Given the description of an element on the screen output the (x, y) to click on. 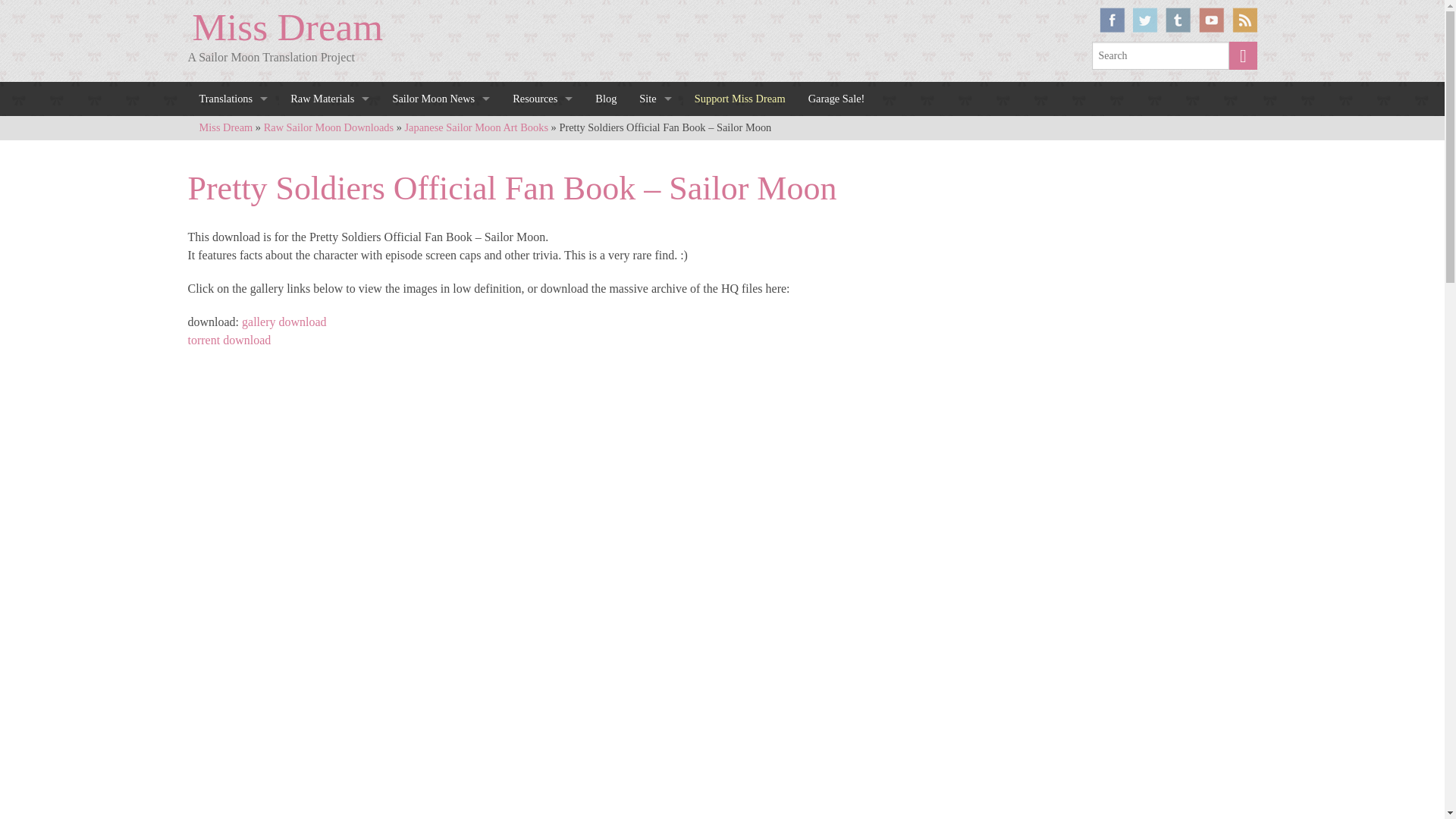
RSS (1243, 19)
Blog (605, 98)
Tumblr (1177, 19)
Sailor Moon Amour Eternal (440, 187)
YouTube (1211, 19)
Raw Materials (329, 98)
RSS (1243, 19)
Sailor Moon Un Nouveau Voyage (440, 216)
Raw Sailor Moon Videos (329, 216)
Facebook (1112, 19)
F.A.Q. (654, 130)
Lyrics (233, 245)
Sailor Moon News (440, 98)
Go to Japanese Sailor Moon Art Books. (476, 127)
Sailor Moon La Reconquista (440, 274)
